Given the description of an element on the screen output the (x, y) to click on. 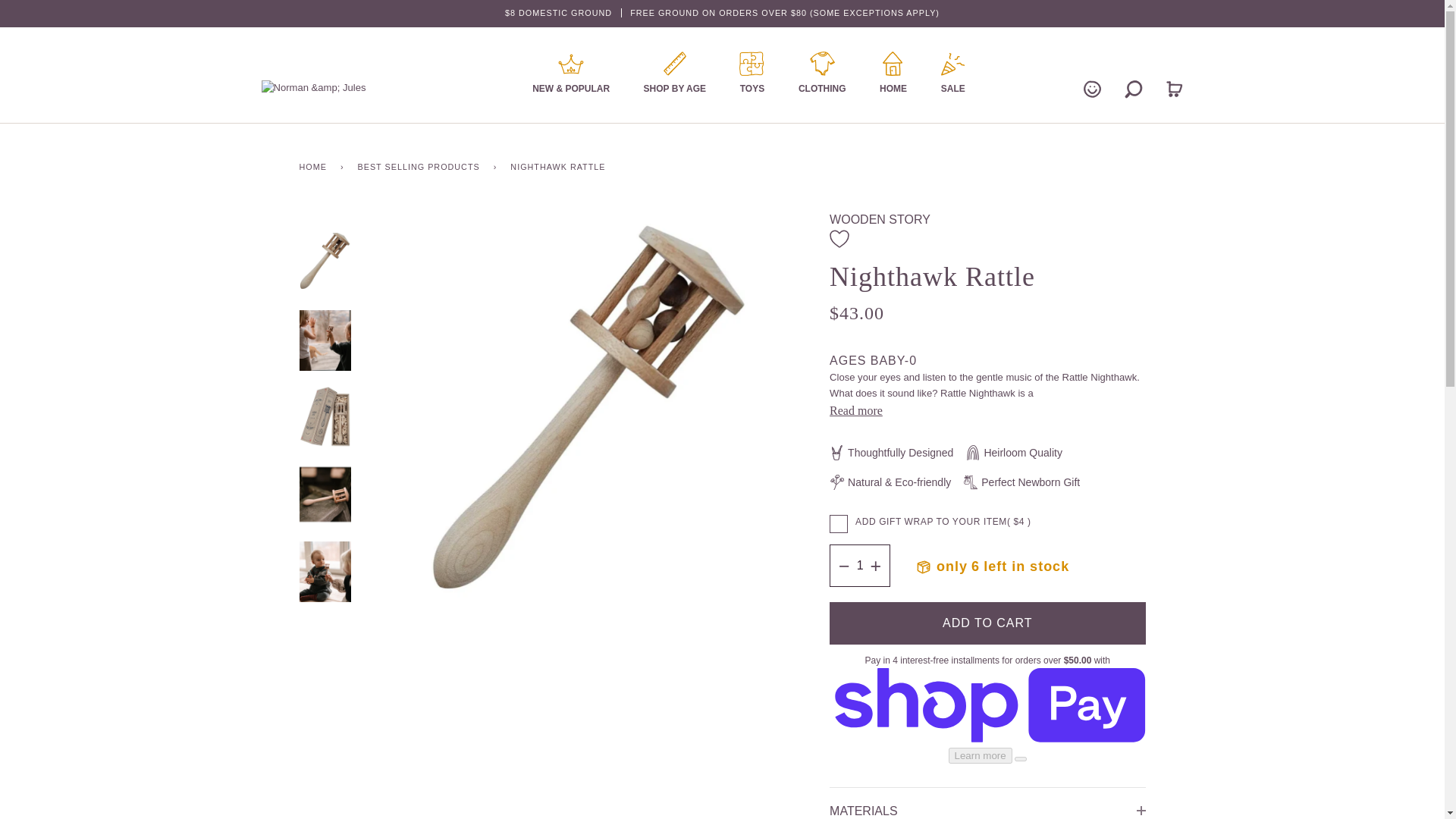
Back to the frontpage (314, 166)
SHOP BY AGE (674, 74)
1 (859, 565)
on (838, 524)
